Given the description of an element on the screen output the (x, y) to click on. 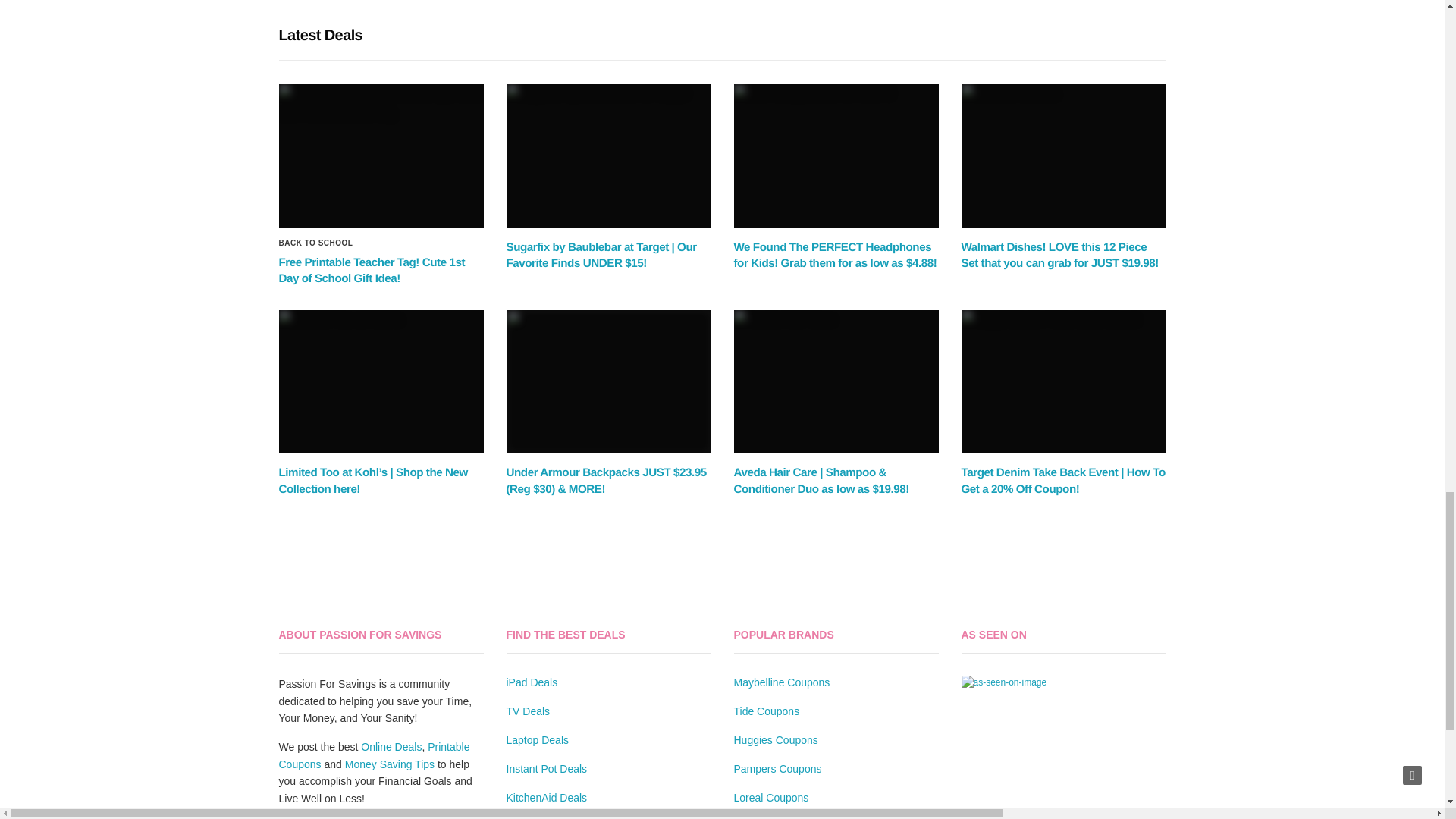
back to school (316, 243)
